Given the description of an element on the screen output the (x, y) to click on. 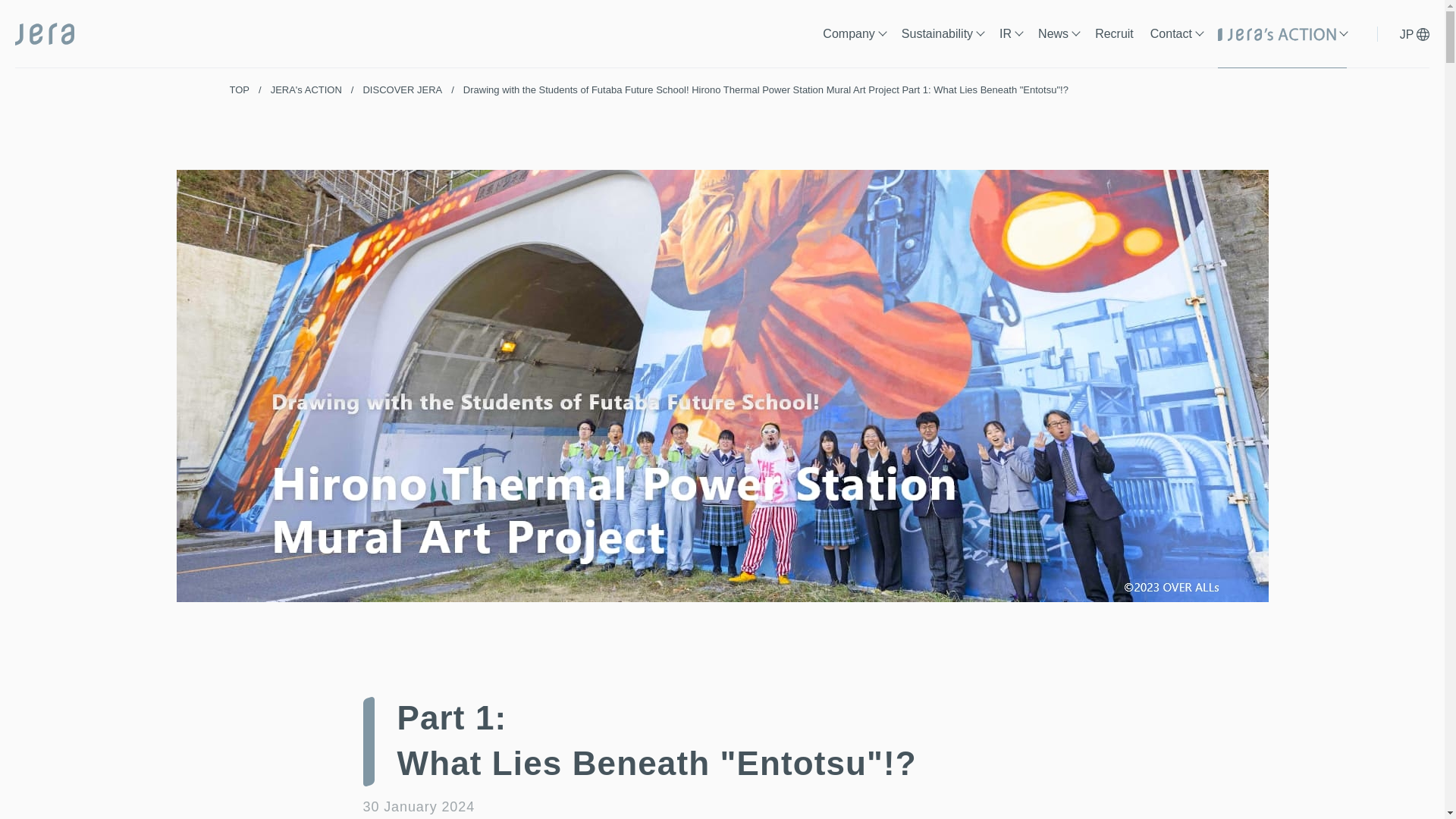
Company (853, 44)
Sustainability (942, 44)
